Given the description of an element on the screen output the (x, y) to click on. 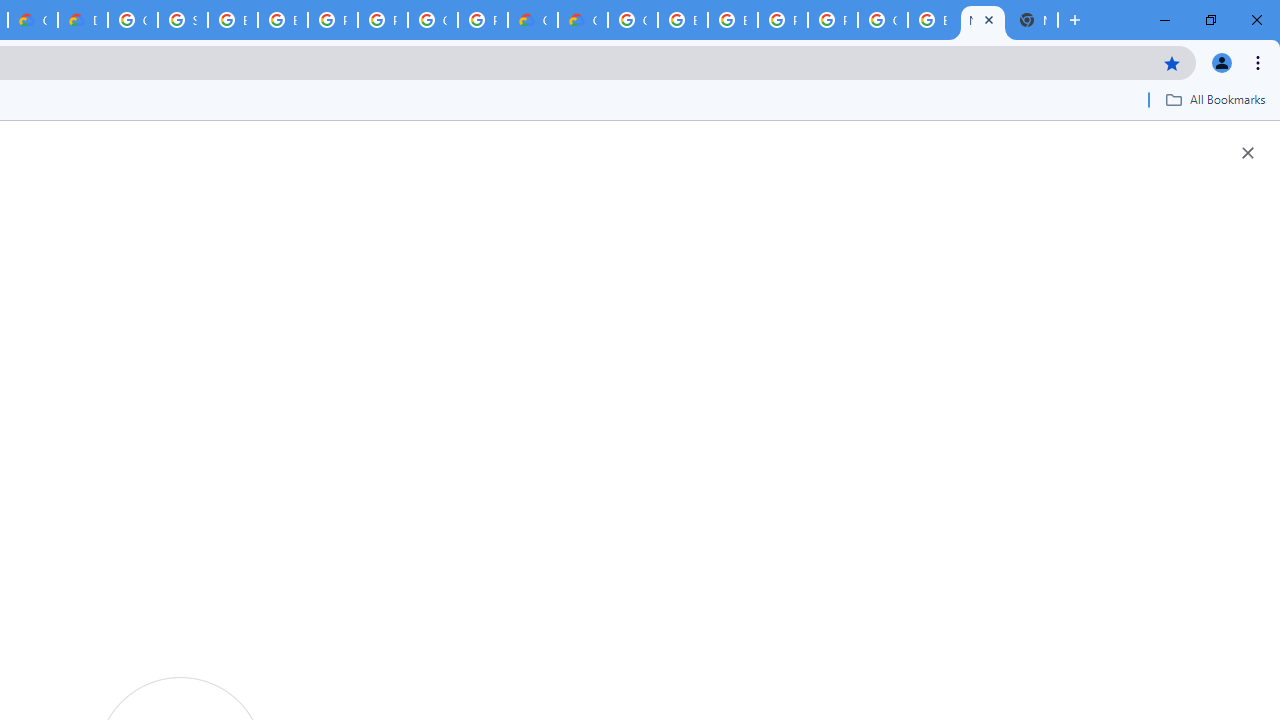
Browse Chrome as a guest - Computer - Google Chrome Help (682, 20)
Customer Care | Google Cloud (533, 20)
Google Cloud Platform (132, 20)
